Given the description of an element on the screen output the (x, y) to click on. 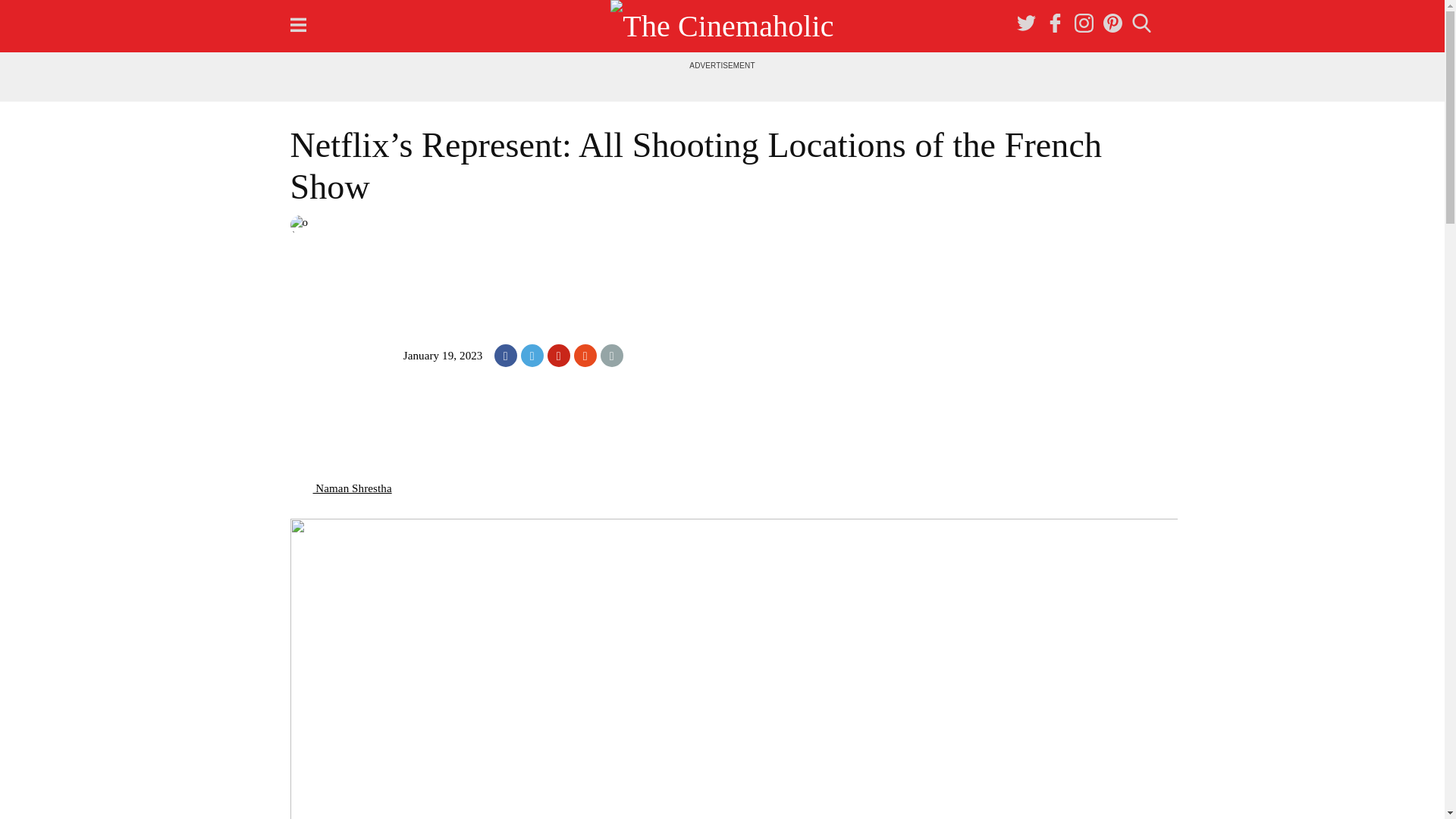
Naman Shrestha (340, 488)
